Given the description of an element on the screen output the (x, y) to click on. 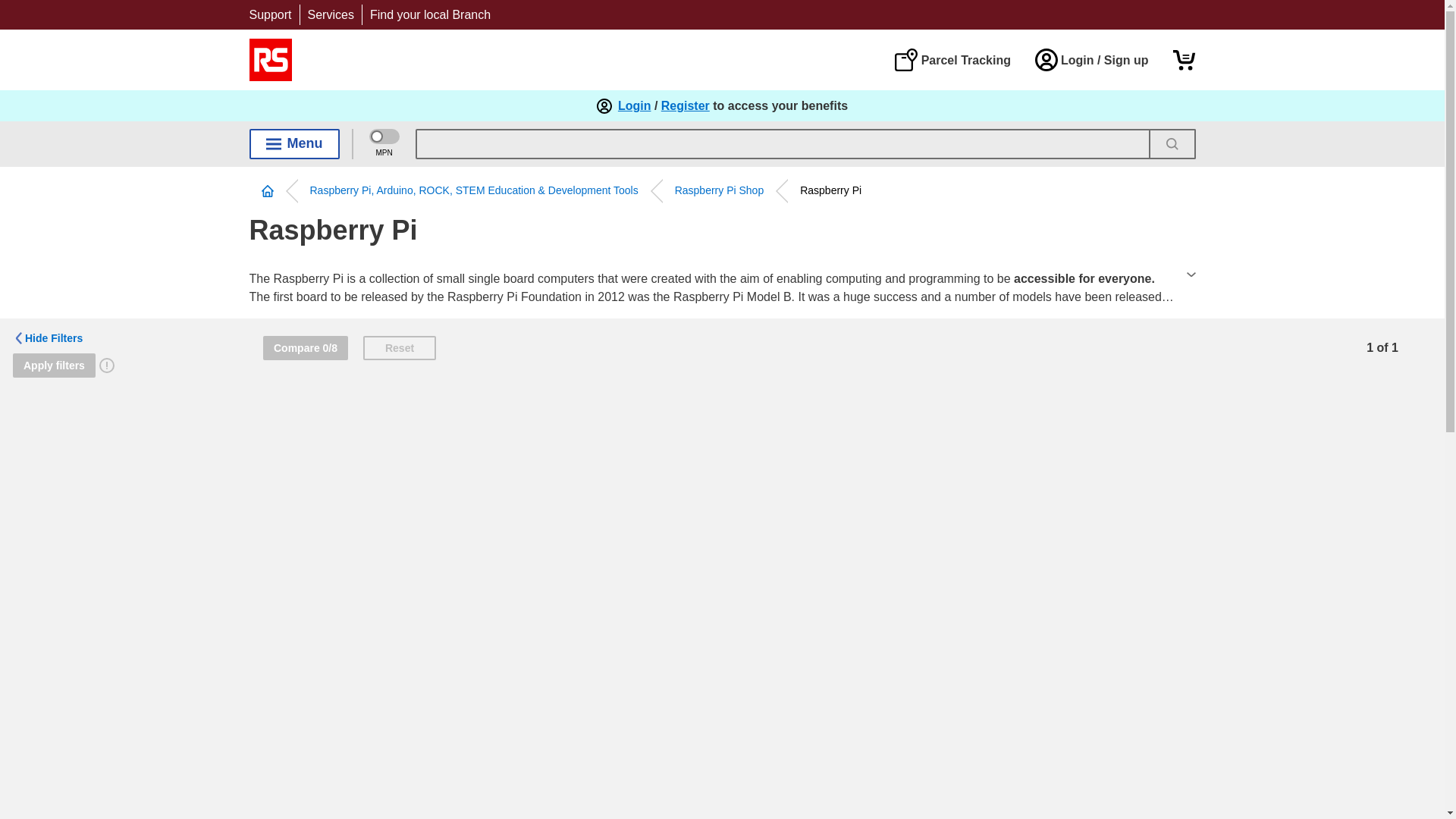
Menu (293, 143)
Register (685, 105)
Services (330, 14)
Support (269, 14)
Parcel Tracking (951, 59)
Login (633, 105)
Find your local Branch (429, 14)
